Given the description of an element on the screen output the (x, y) to click on. 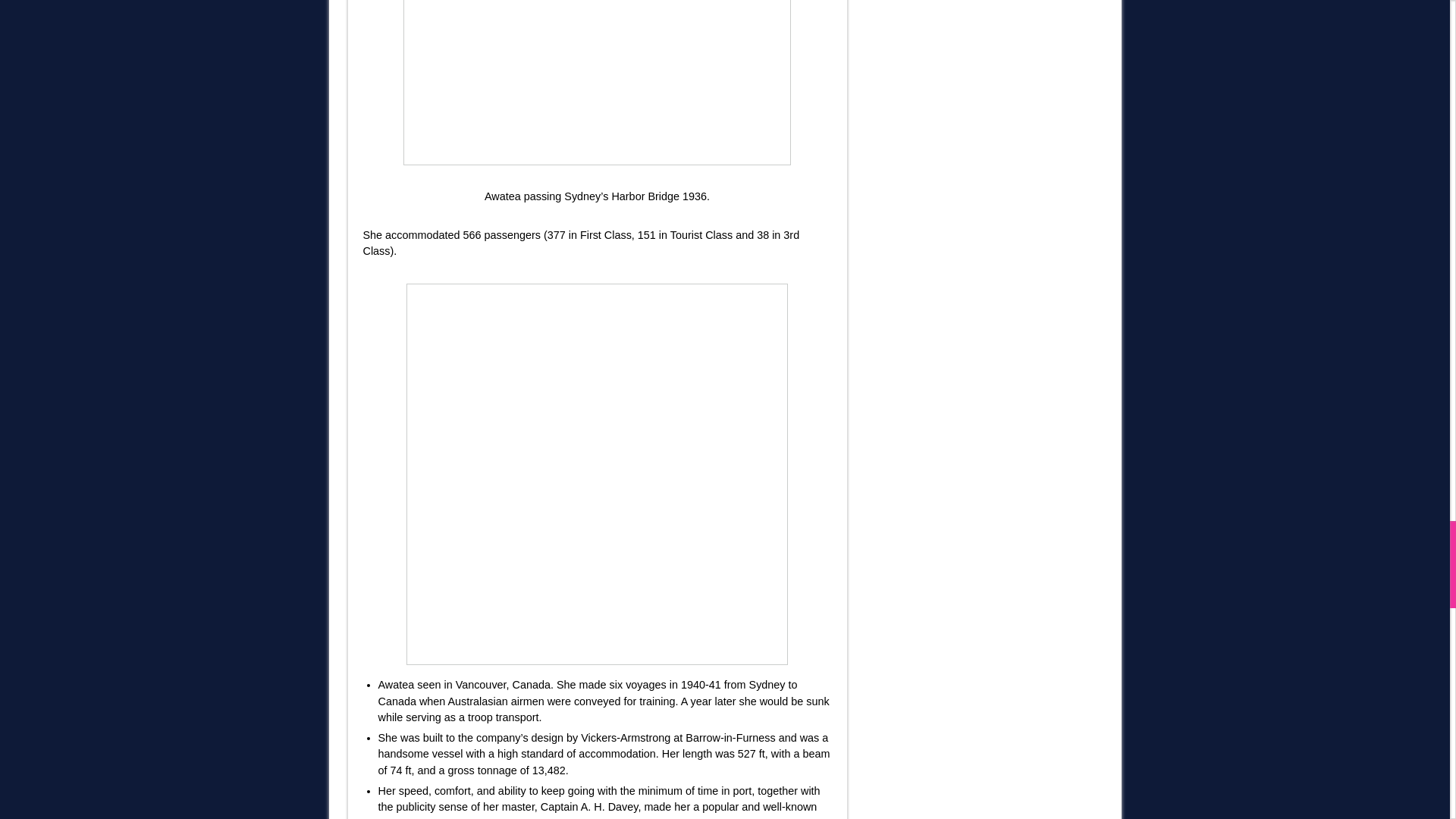
usss02.jpg (596, 82)
